Given the description of an element on the screen output the (x, y) to click on. 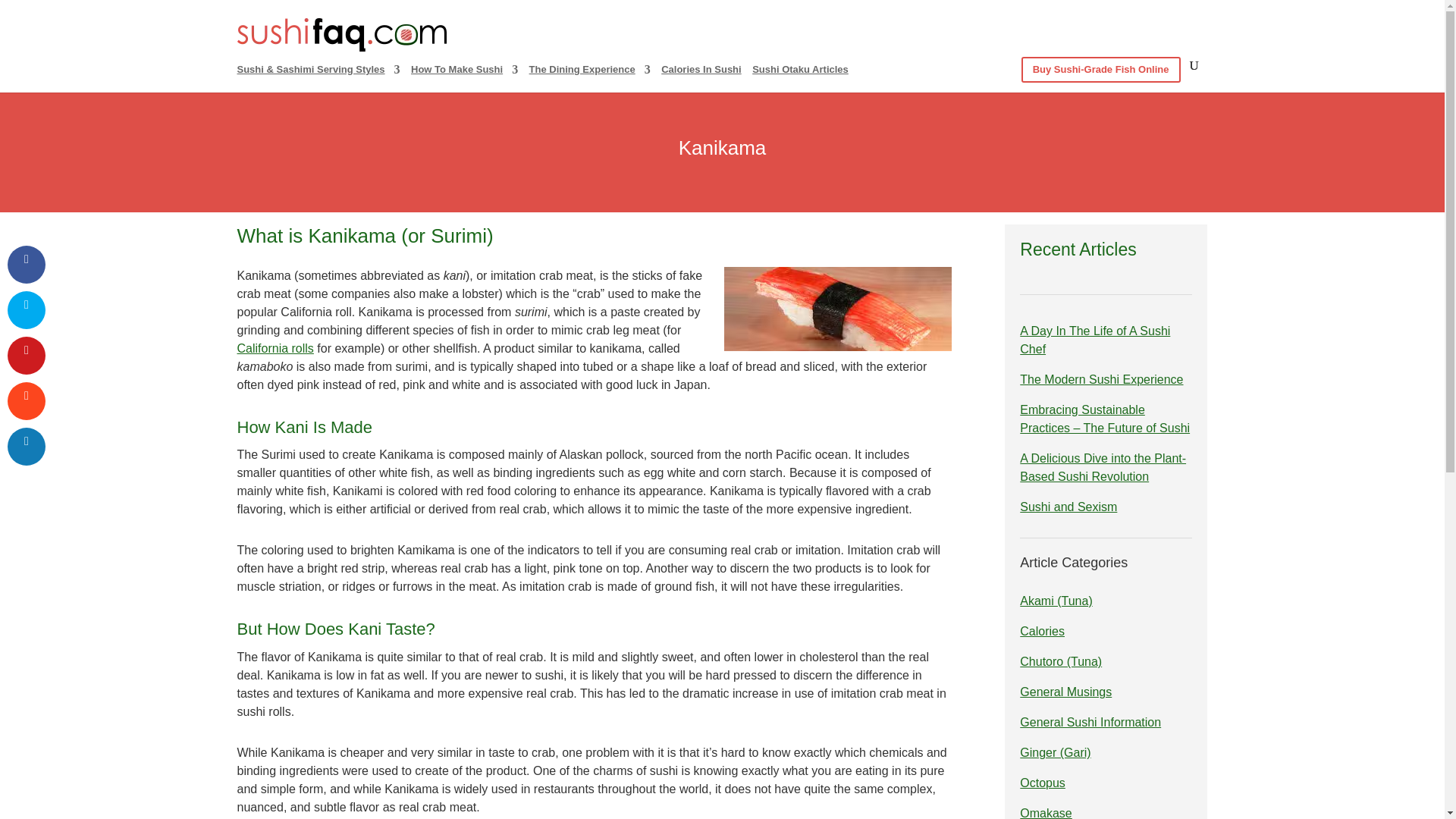
California roll (274, 348)
Buy Sushi-Grade Fish Online (1101, 74)
The Dining Experience (589, 74)
Calories In Sushi (701, 74)
How To Make Sushi (464, 74)
Sushi Otaku Articles (800, 74)
